Given the description of an element on the screen output the (x, y) to click on. 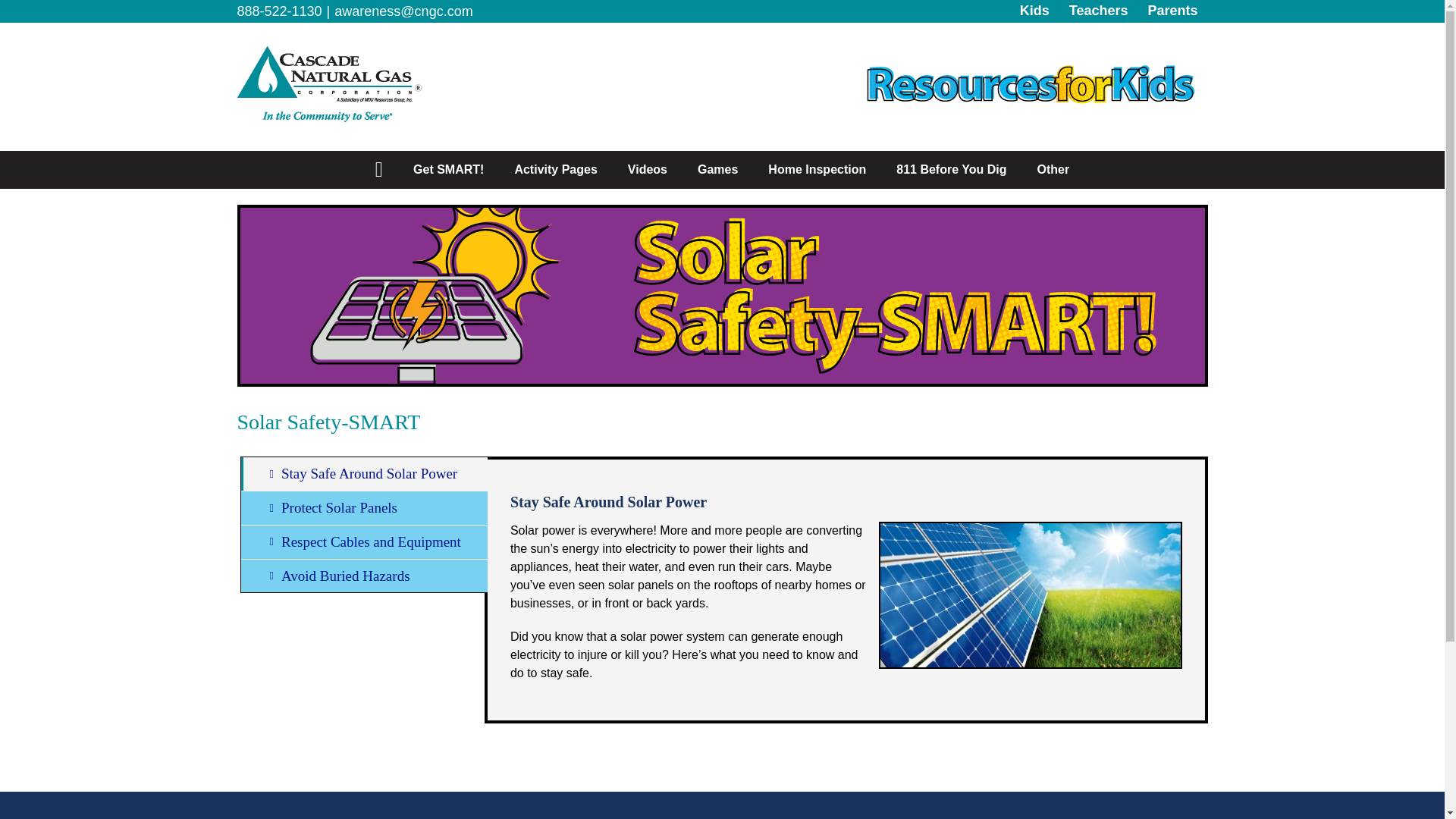
Other (1053, 169)
Activity Pages (555, 169)
Kids (1034, 11)
811 Before You Dig (951, 169)
Parents (1172, 11)
Get SMART! (448, 169)
Videos (647, 169)
Games (717, 169)
Kids (1034, 11)
Teachers (1098, 11)
Home Inspection (816, 169)
